Given the description of an element on the screen output the (x, y) to click on. 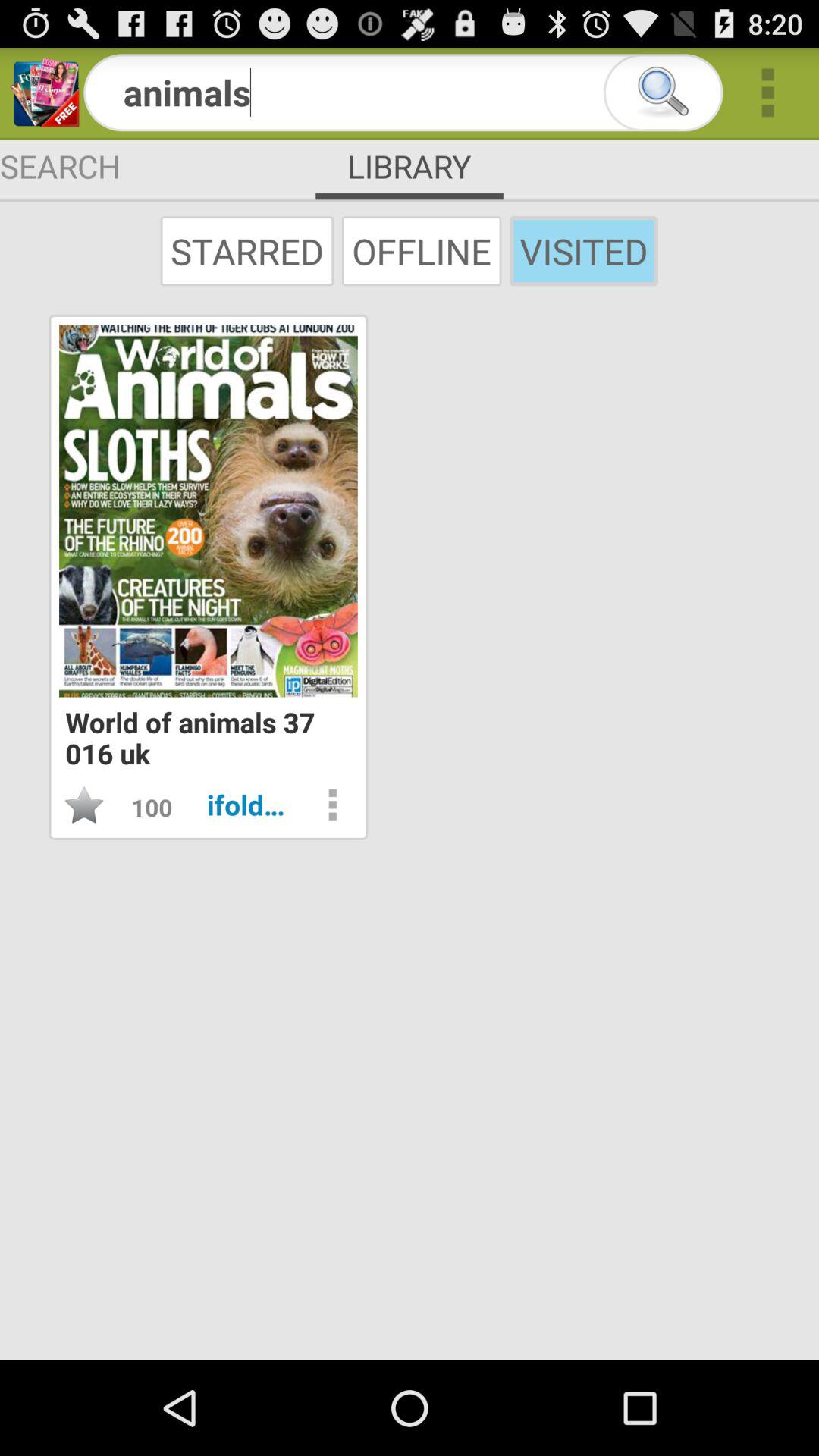
settings (332, 804)
